Given the description of an element on the screen output the (x, y) to click on. 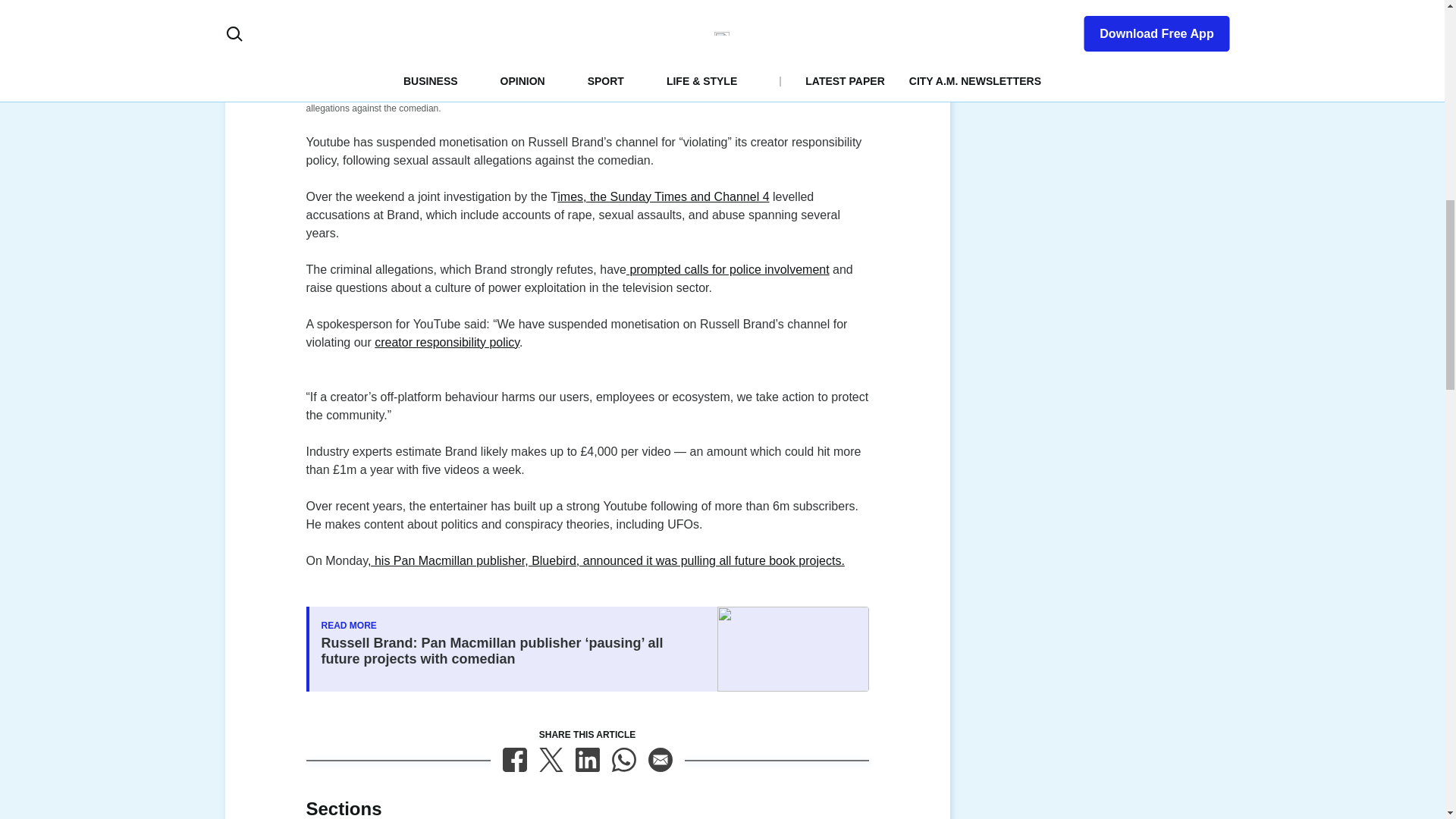
X (550, 759)
LinkedIn (586, 759)
Email (659, 759)
Facebook (513, 759)
WhatsApp (622, 759)
